Given the description of an element on the screen output the (x, y) to click on. 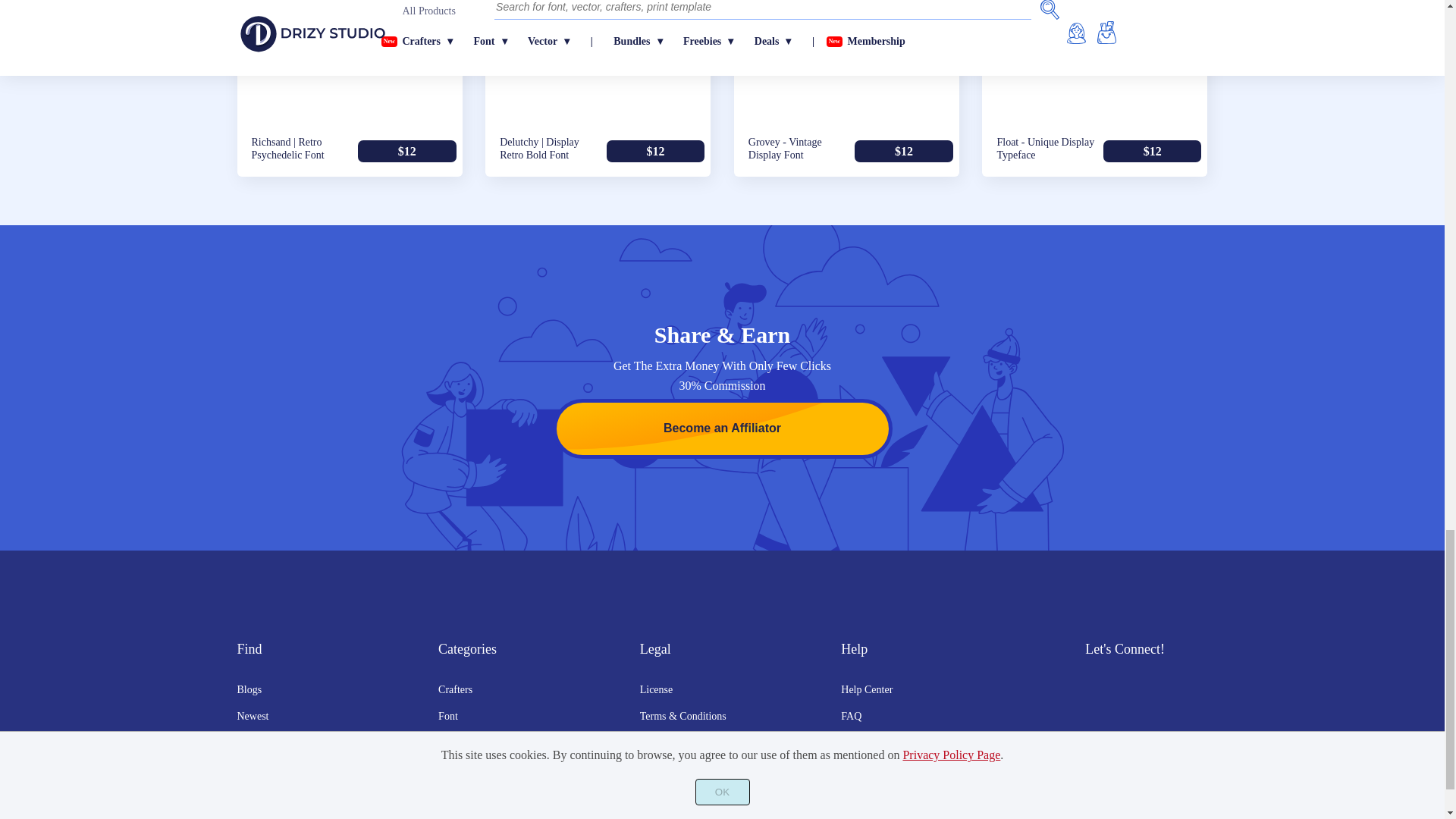
Share to Pinterest (258, 7)
Share to whatsapp (291, 7)
